Given the description of an element on the screen output the (x, y) to click on. 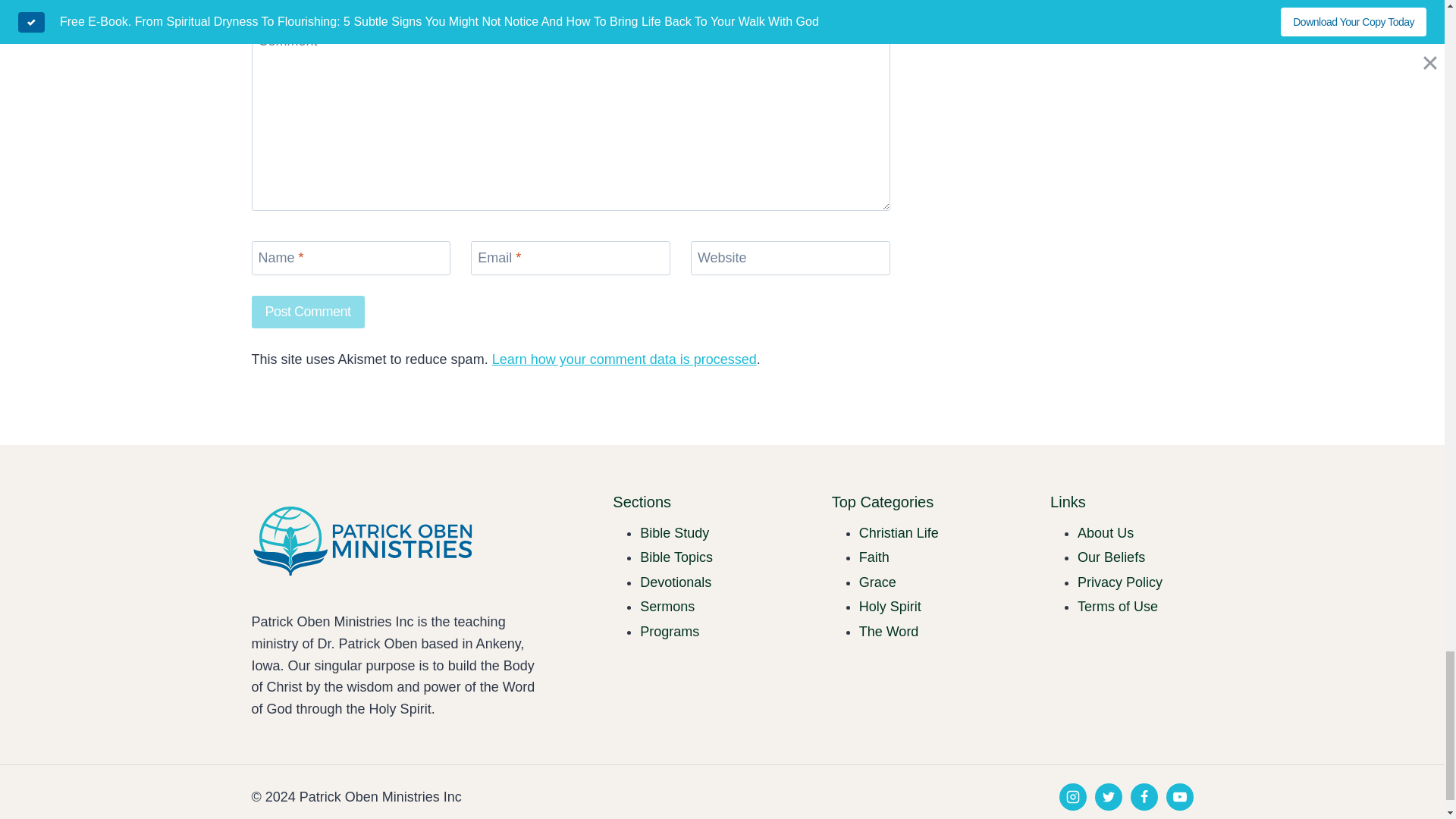
Post Comment (308, 311)
